Given the description of an element on the screen output the (x, y) to click on. 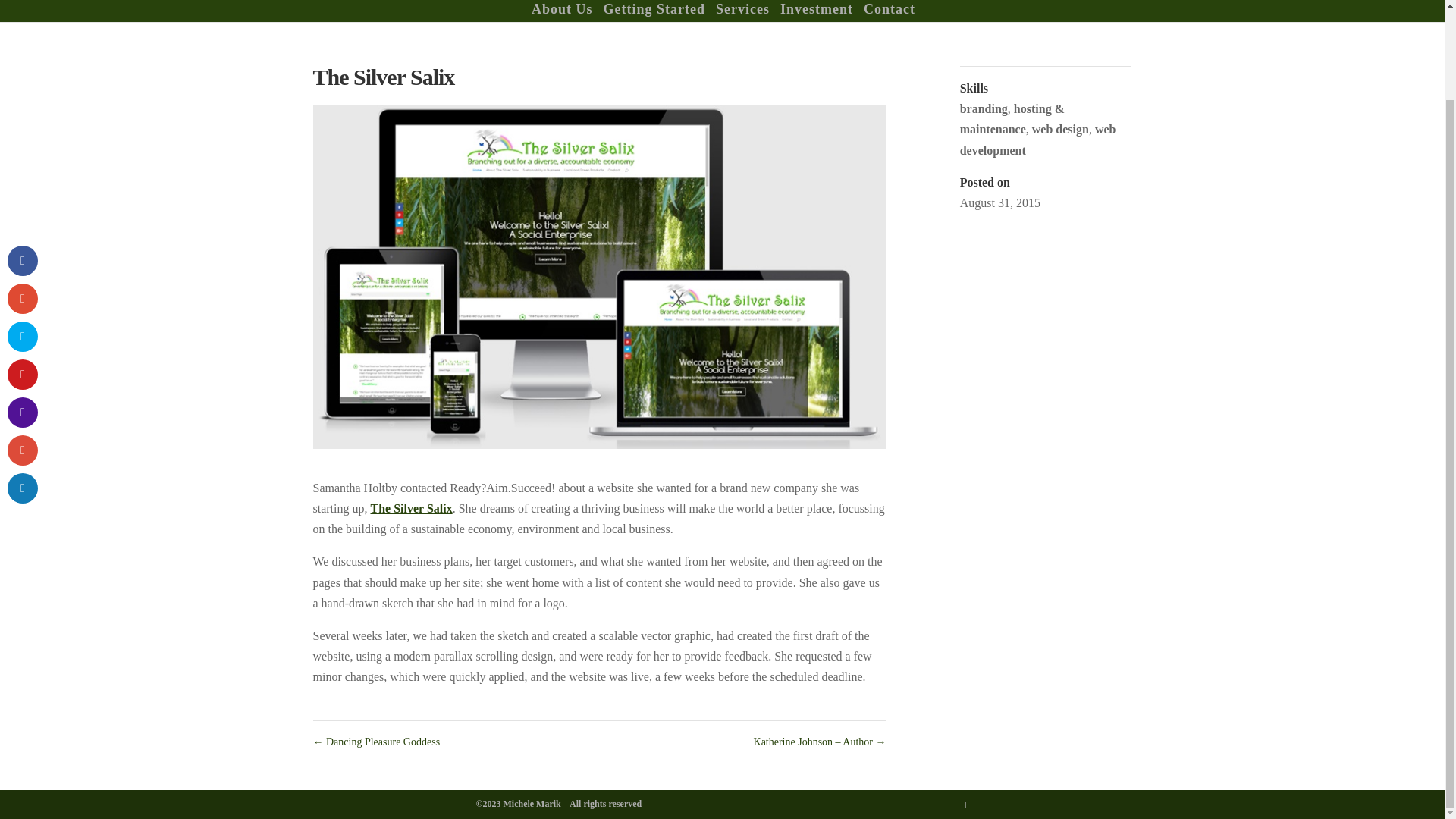
Services (743, 11)
Investment (816, 11)
The Silver Salix (410, 508)
About Us (561, 11)
Contact (889, 11)
Getting Started (654, 11)
web design (1060, 128)
Michele Marik (532, 803)
branding (983, 108)
web development (1037, 139)
